Given the description of an element on the screen output the (x, y) to click on. 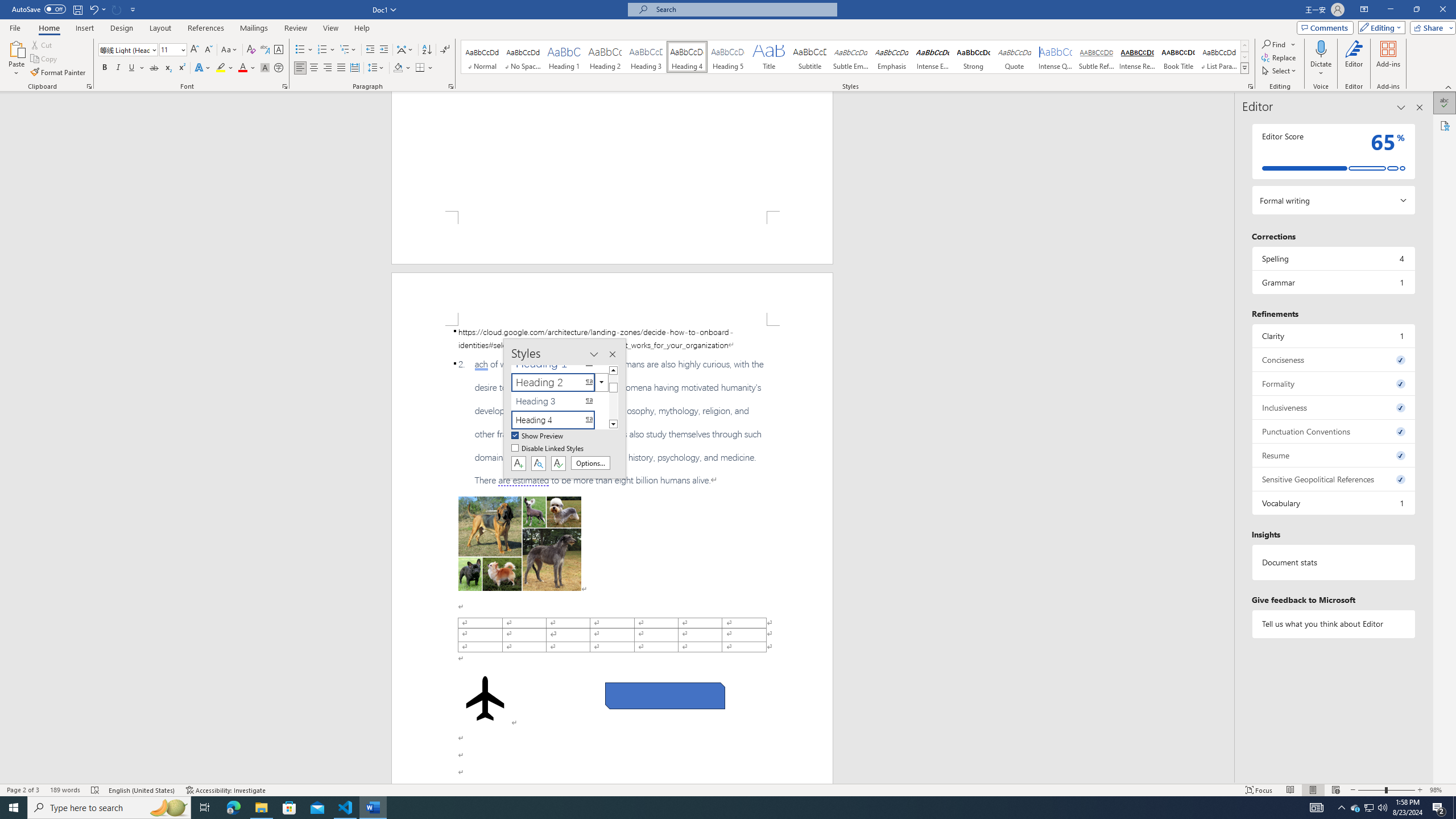
Strong (973, 56)
Page 2 content (611, 554)
Heading 1 (564, 56)
Formality, 0 issues. Press space or enter to review items. (1333, 383)
Footer -Section 1- (611, 237)
